Given the description of an element on the screen output the (x, y) to click on. 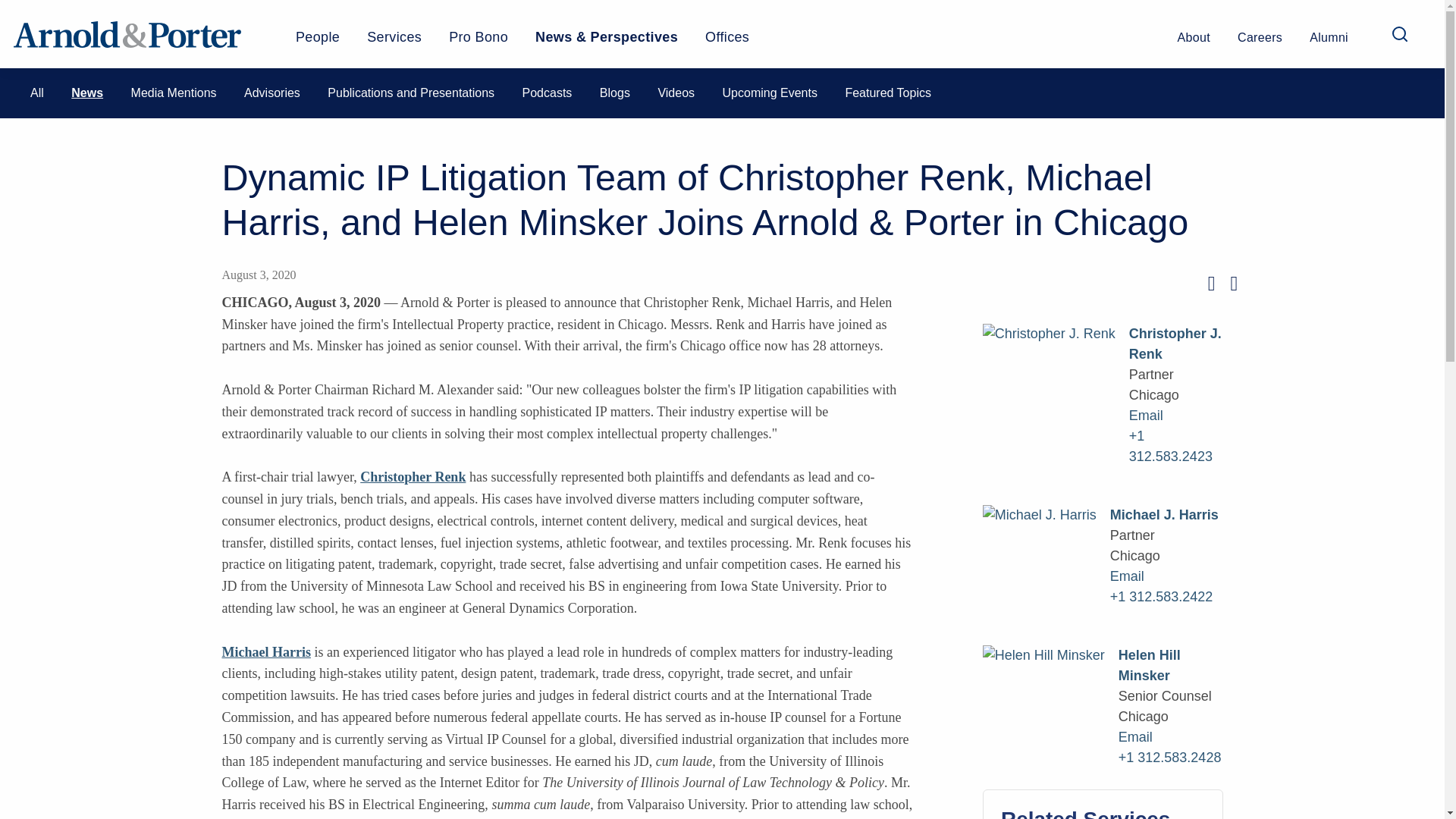
Videos (676, 93)
Media Mentions (173, 93)
About (1193, 43)
Services (394, 43)
Offices (726, 43)
Featured Topics (887, 93)
Publications and Presentations (411, 93)
Alumni (1328, 43)
Blogs (614, 93)
Upcoming Events (769, 93)
Careers (1259, 43)
All (36, 93)
Advisories (271, 93)
Christopher Renk (412, 476)
Pro Bono (478, 43)
